Given the description of an element on the screen output the (x, y) to click on. 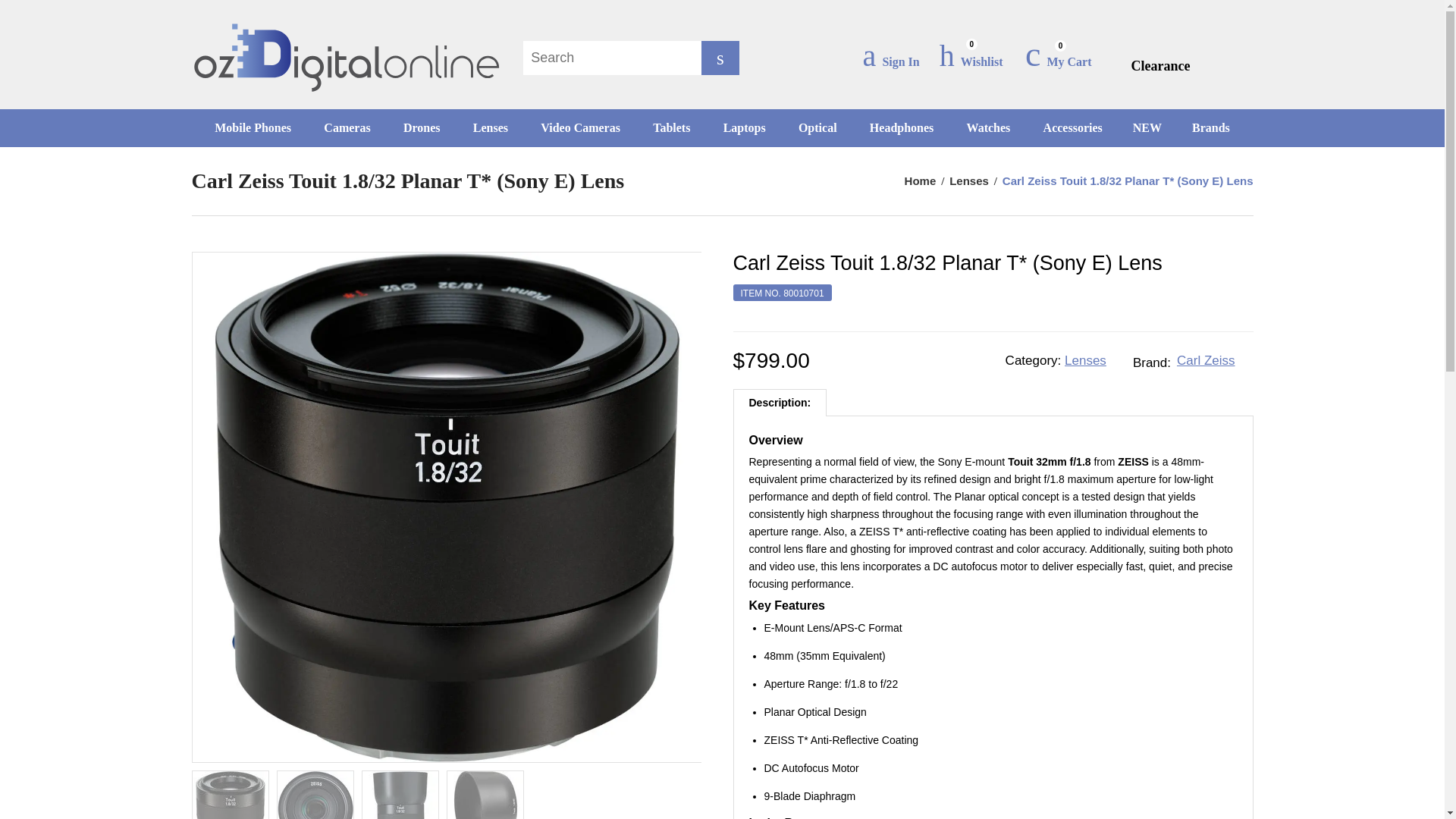
Mobile Phone Price (252, 127)
Electronics Sale (1160, 65)
0 (971, 56)
Optical (817, 127)
Buy Camera Drone (421, 127)
Watches Online (989, 127)
Lenses (968, 180)
Lenses (1085, 359)
Headphones (901, 127)
Tablets (670, 127)
